Given the description of an element on the screen output the (x, y) to click on. 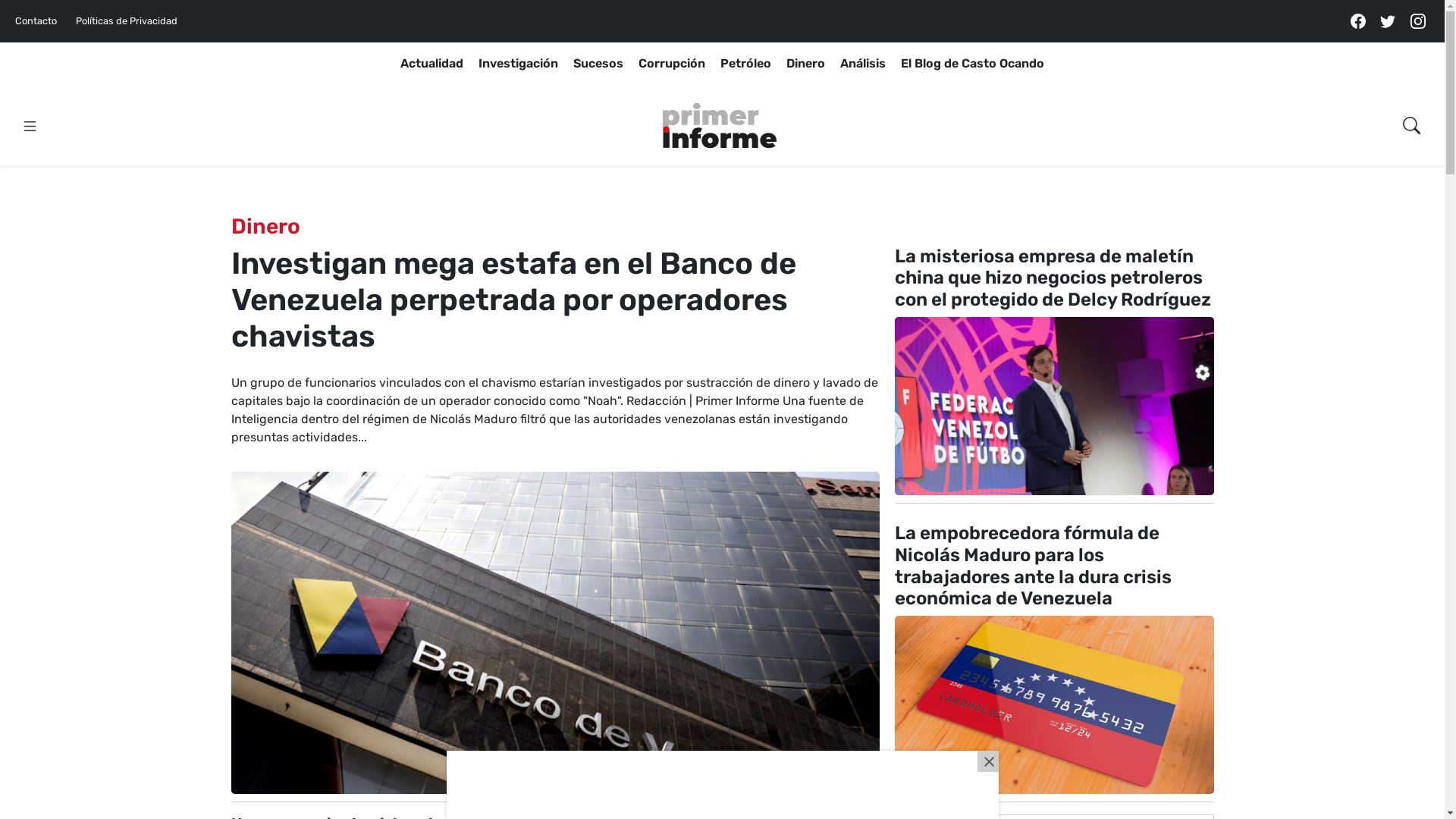
Dinero Element type: text (805, 63)
Actualidad Element type: text (431, 63)
BUSCAR Element type: text (1382, 161)
Contacto Element type: text (41, 20)
Primer Informe Element type: hover (719, 125)
Facebook Element type: hover (1357, 21)
El Blog de Casto Ocando Element type: text (972, 63)
Twitter Element type: hover (1387, 21)
Instagram Element type: hover (1417, 21)
Sucesos Element type: text (598, 63)
